Given the description of an element on the screen output the (x, y) to click on. 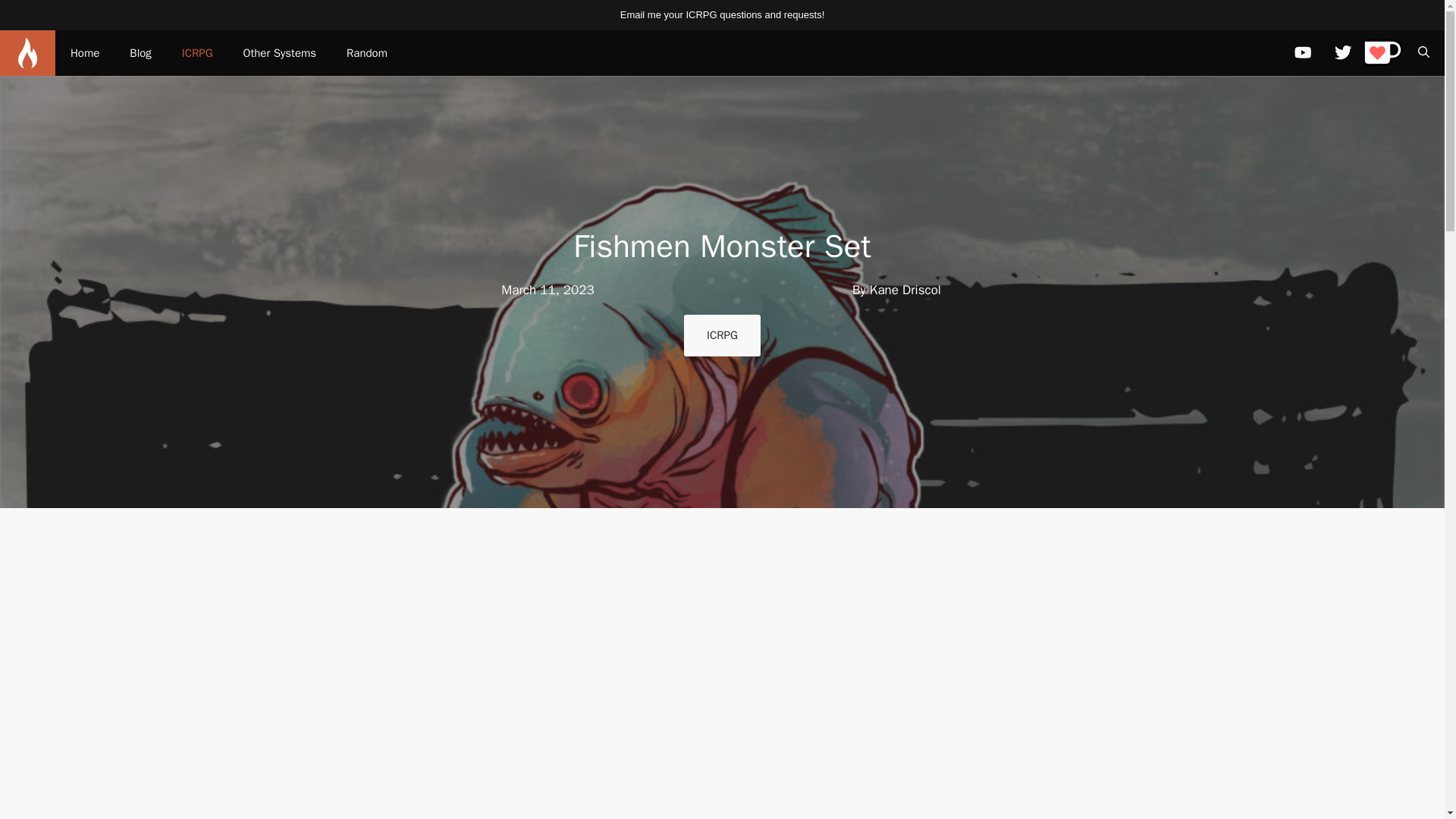
Email me your ICRPG questions and requests! (722, 14)
Blog (140, 53)
ICRPG (722, 335)
Random (367, 53)
Home (85, 53)
Other Systems (279, 53)
ICRPG (197, 53)
